Given the description of an element on the screen output the (x, y) to click on. 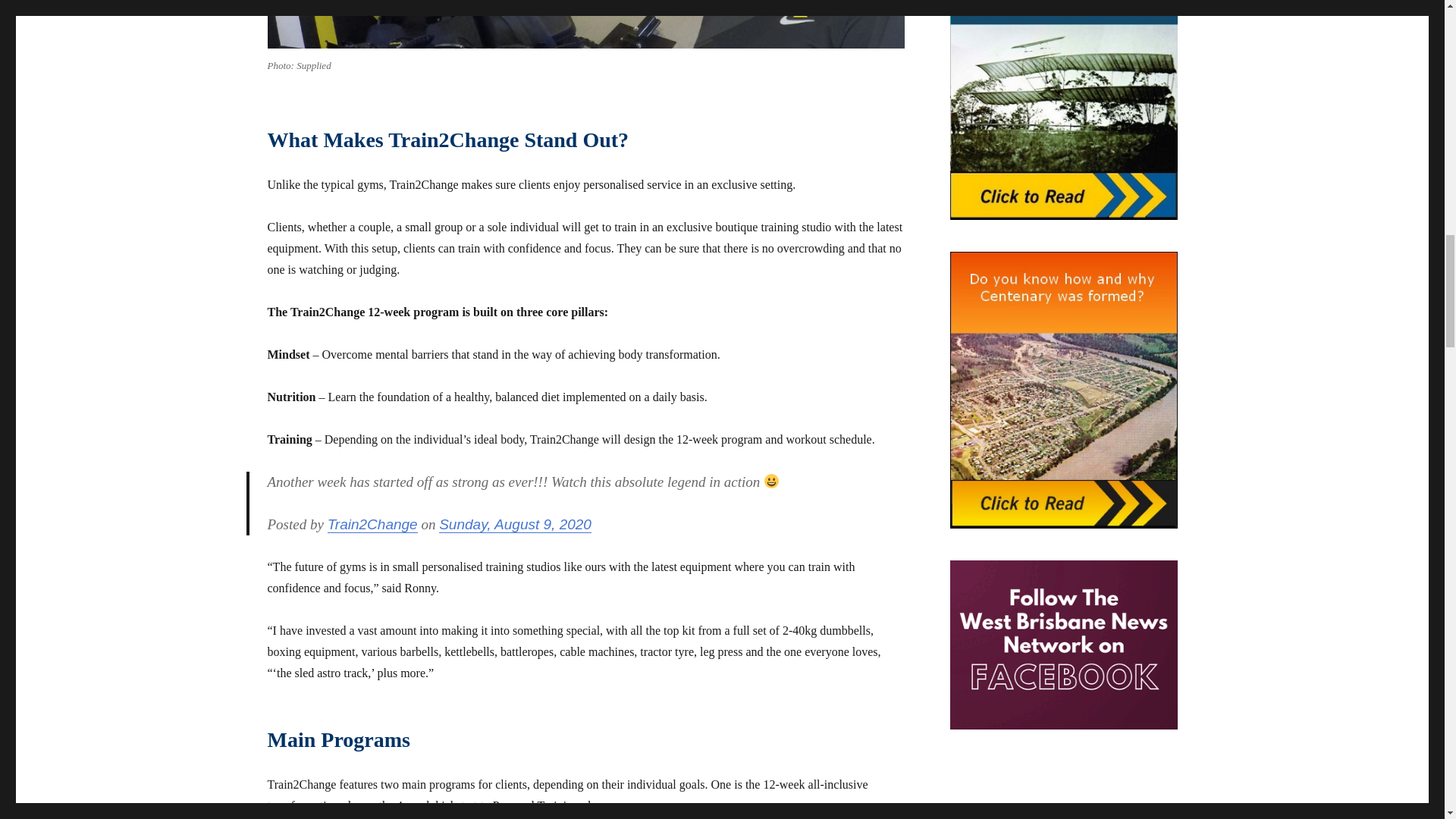
Sunday, August 9, 2020 (515, 524)
Train2Change (372, 524)
